Given the description of an element on the screen output the (x, y) to click on. 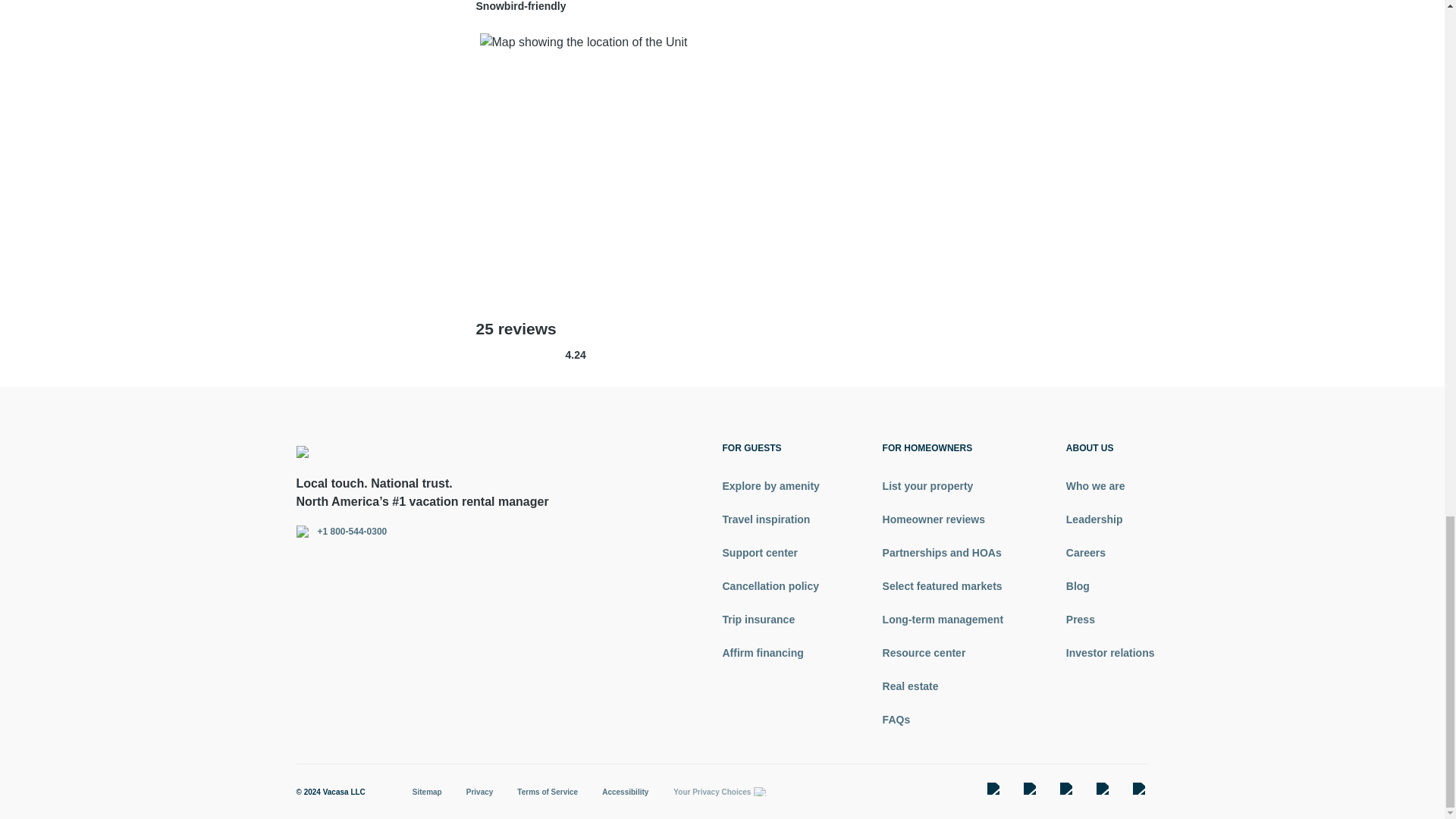
Privacy (479, 791)
Press (1109, 619)
Cancellation policy (770, 585)
Terms of Service (547, 791)
Leadership (1109, 519)
Homeowner reviews (942, 519)
Who we are (1109, 485)
Long-term management (942, 619)
Trip insurance (770, 619)
Affirm financing (770, 652)
